Given the description of an element on the screen output the (x, y) to click on. 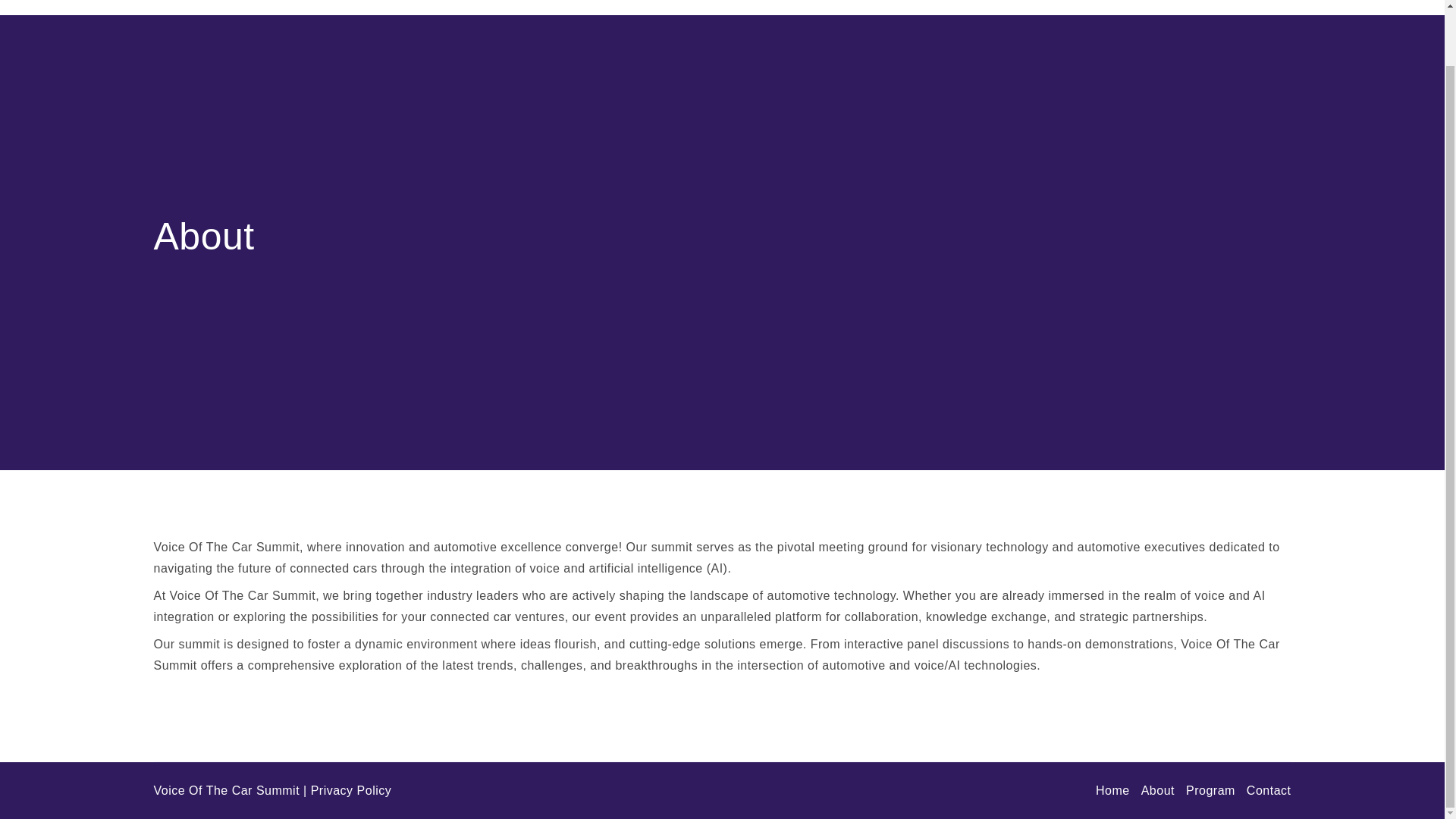
Home (1112, 789)
Program (1210, 789)
About (1157, 789)
Contact (1255, 7)
Program (1179, 7)
Privacy Policy (351, 789)
About (1107, 7)
Home (1044, 7)
Contact (1268, 789)
